Given the description of an element on the screen output the (x, y) to click on. 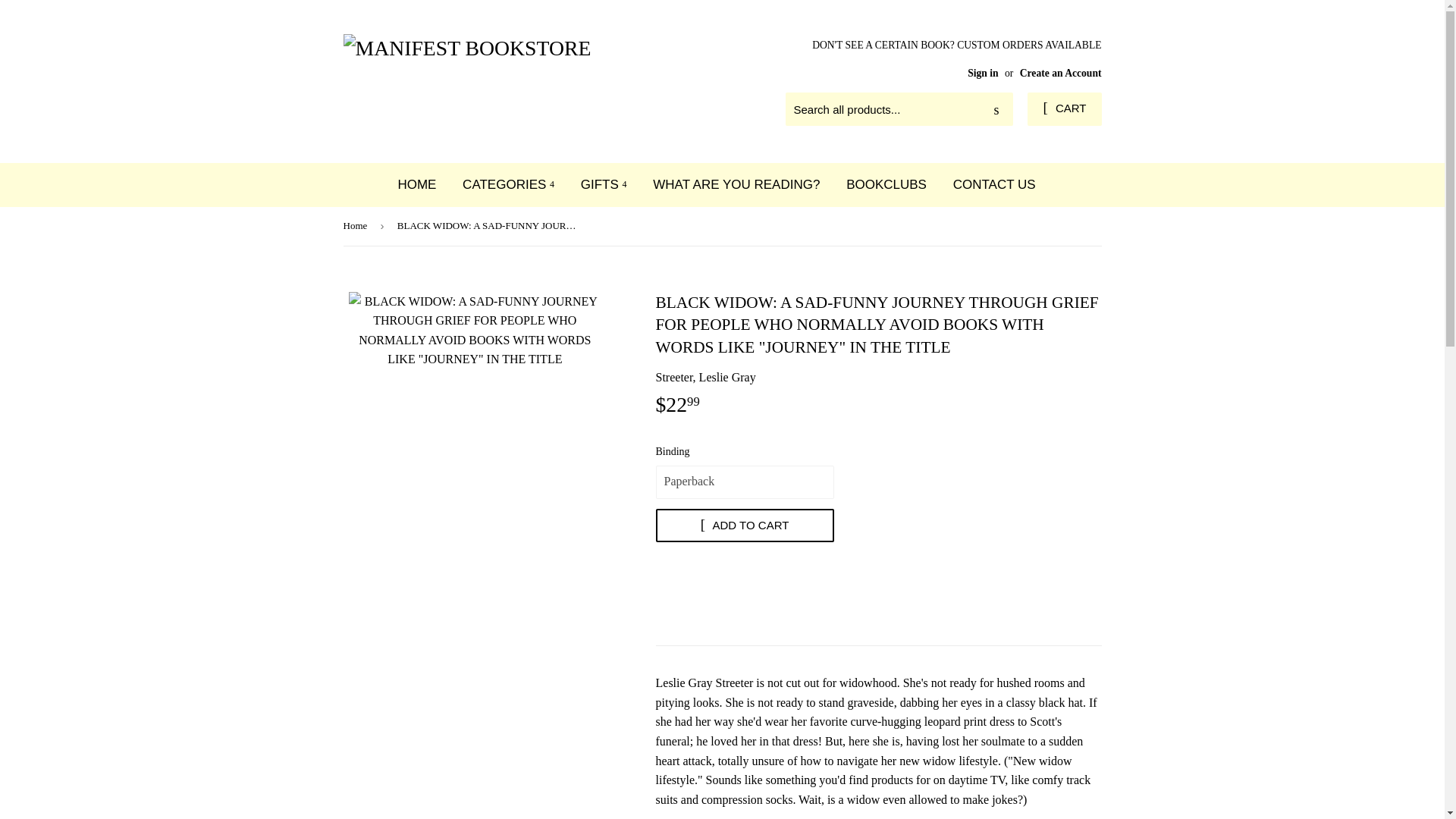
CONTACT US (994, 184)
Search (995, 110)
Create an Account (1061, 72)
Sign in (982, 72)
CATEGORIES (508, 184)
CART (1063, 109)
HOME (415, 184)
WHAT ARE YOU READING? (736, 184)
BOOKCLUBS (885, 184)
GIFTS (604, 184)
